Given the description of an element on the screen output the (x, y) to click on. 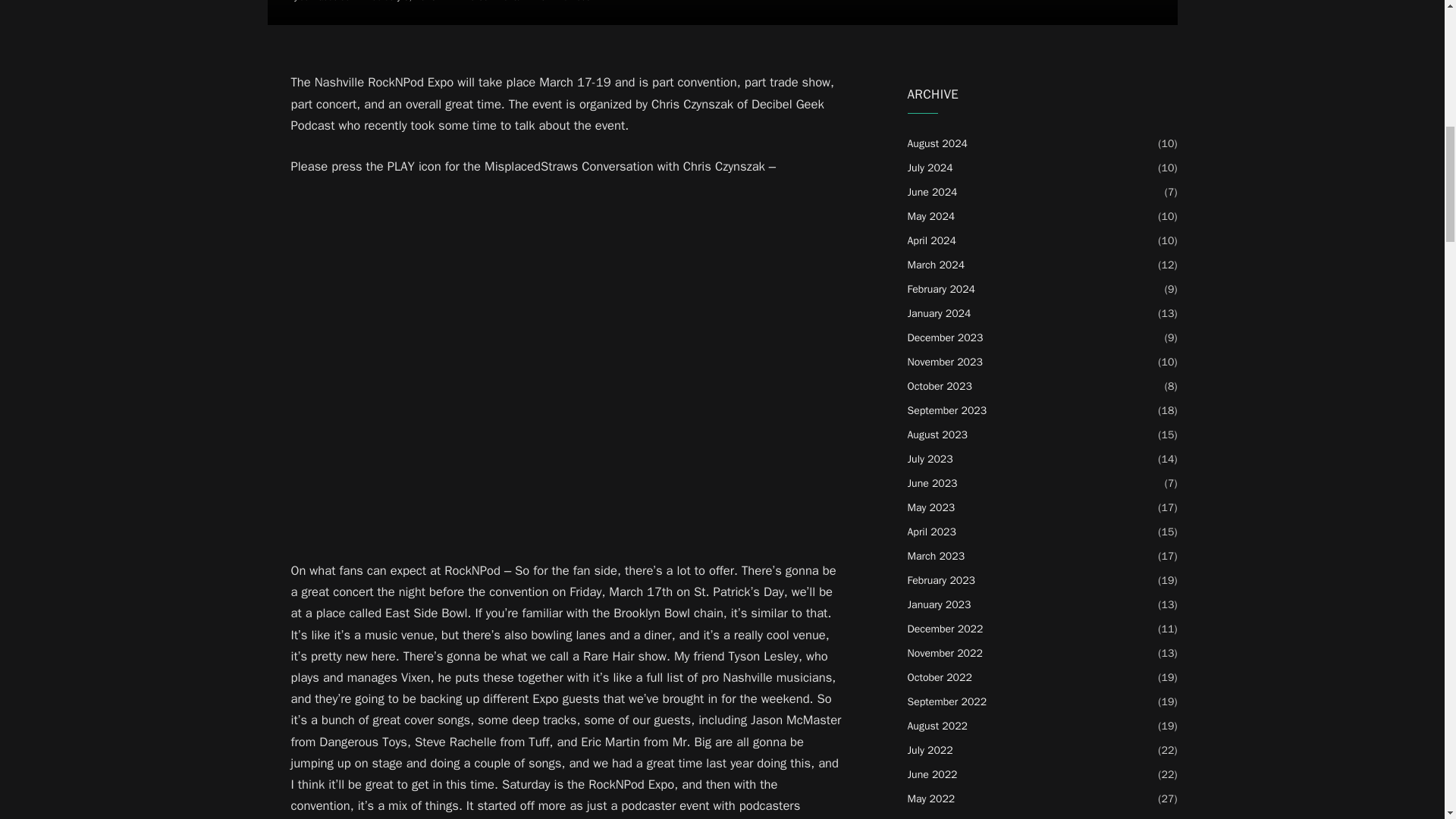
No Comments (489, 1)
A Conversation With Chris Czynszak of The RockNPod Expo (721, 12)
Jeff Gaudiosi (326, 1)
Posts by Jeff Gaudiosi (326, 1)
